Given the description of an element on the screen output the (x, y) to click on. 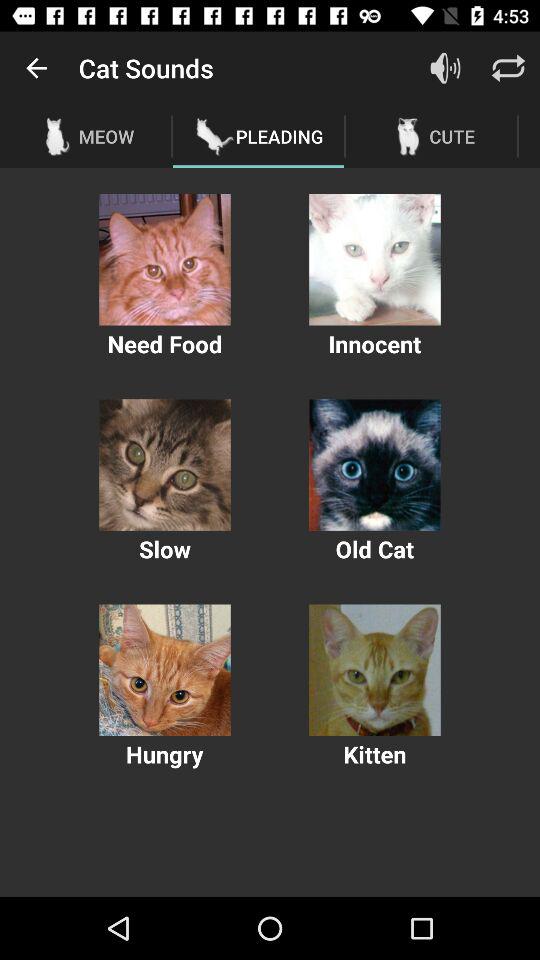
turn on icon to the right of pleading (444, 67)
